Given the description of an element on the screen output the (x, y) to click on. 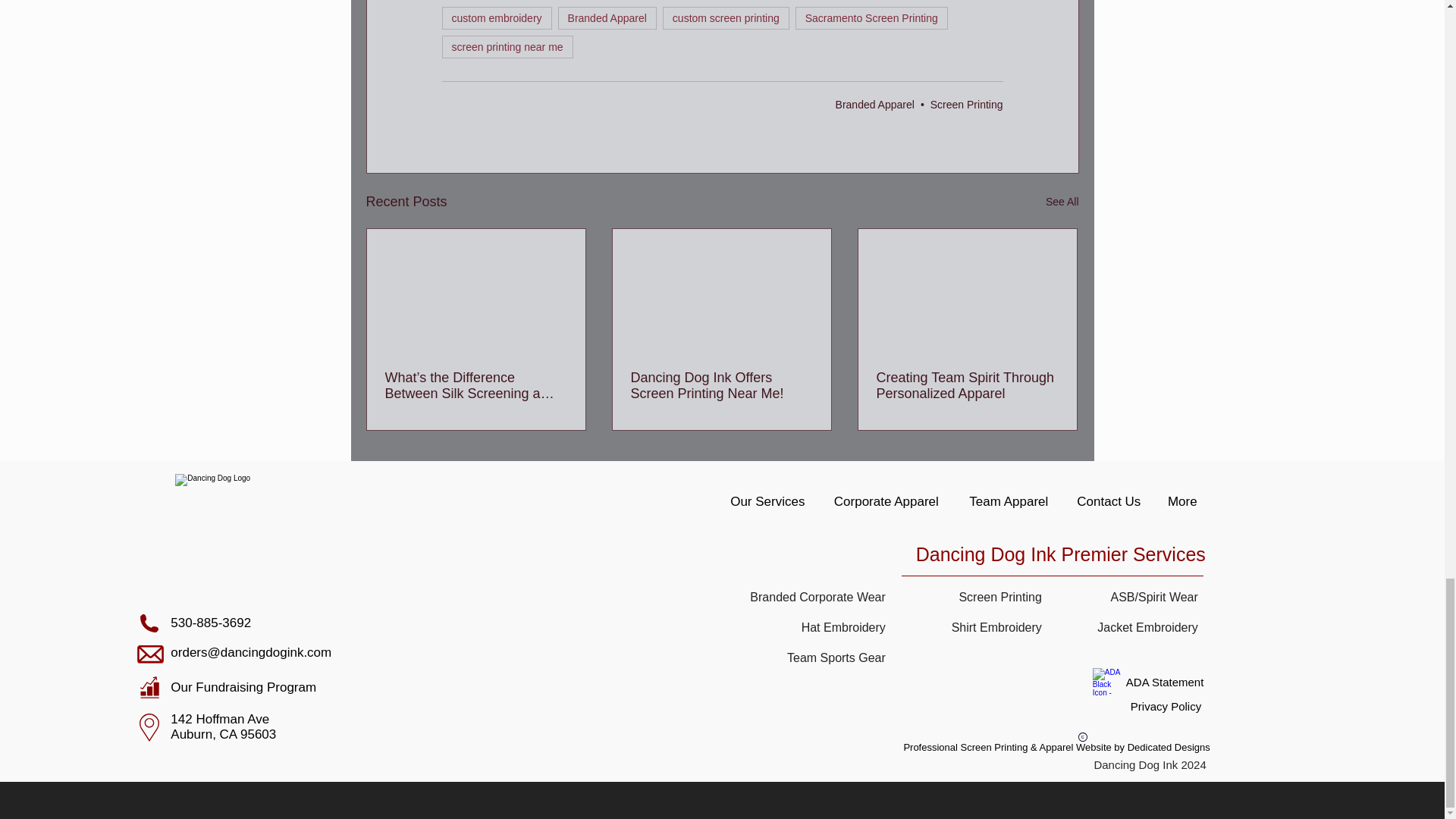
custom screen printing (725, 17)
Branded Apparel (874, 104)
See All (1061, 201)
screen printing near me (506, 47)
custom embroidery (496, 17)
Branded Apparel (606, 17)
Screen Printing (966, 104)
Sacramento Screen Printing (870, 17)
